Given the description of an element on the screen output the (x, y) to click on. 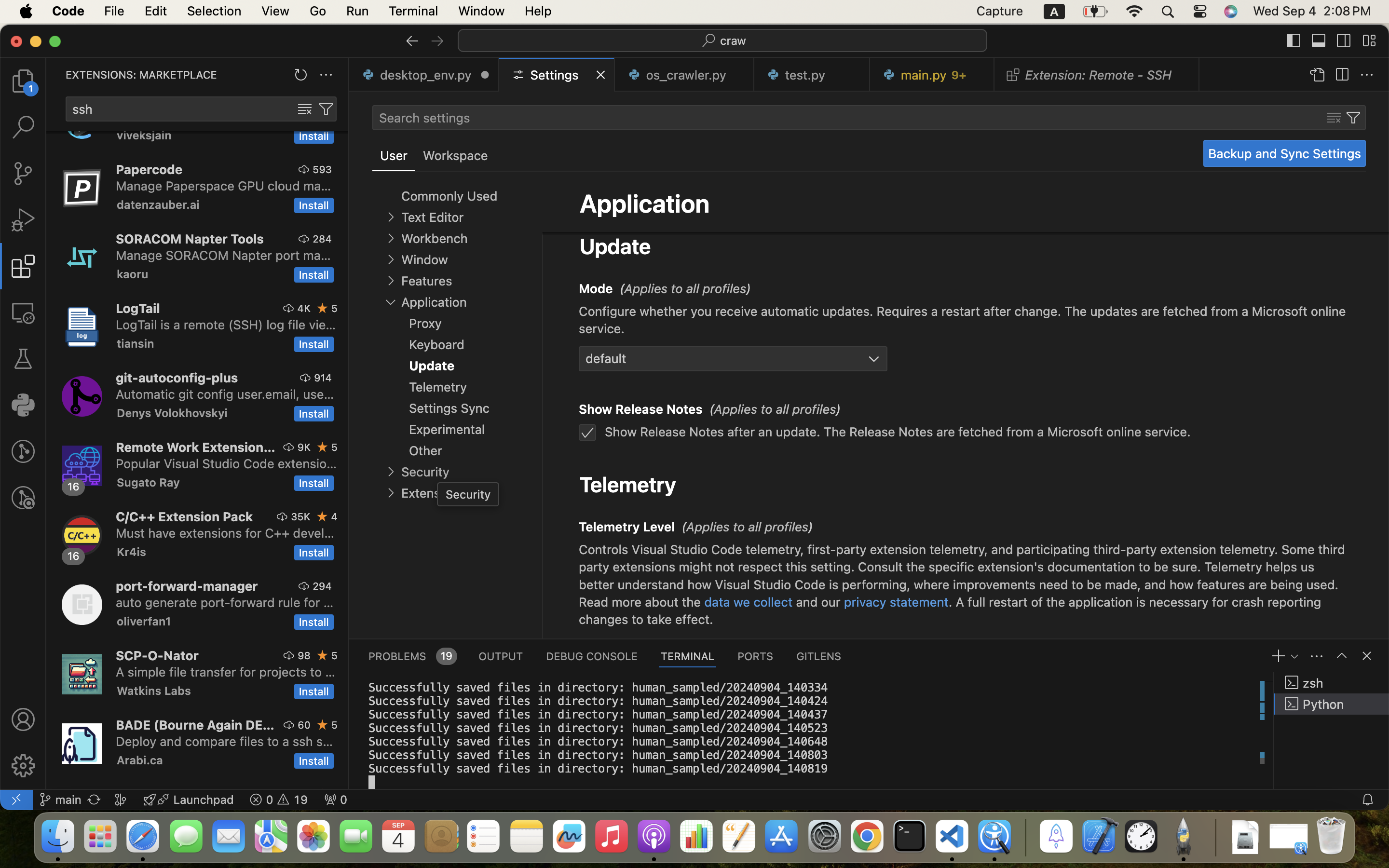
0  Element type: AXRadioButton (23, 127)
1  Element type: AXRadioButton (23, 266)
19  0  Element type: AXButton (278, 799)
Keyboard Element type: AXStaticText (625, 209)
SORACOM Napter Tools Element type: AXStaticText (189, 238)
